Given the description of an element on the screen output the (x, y) to click on. 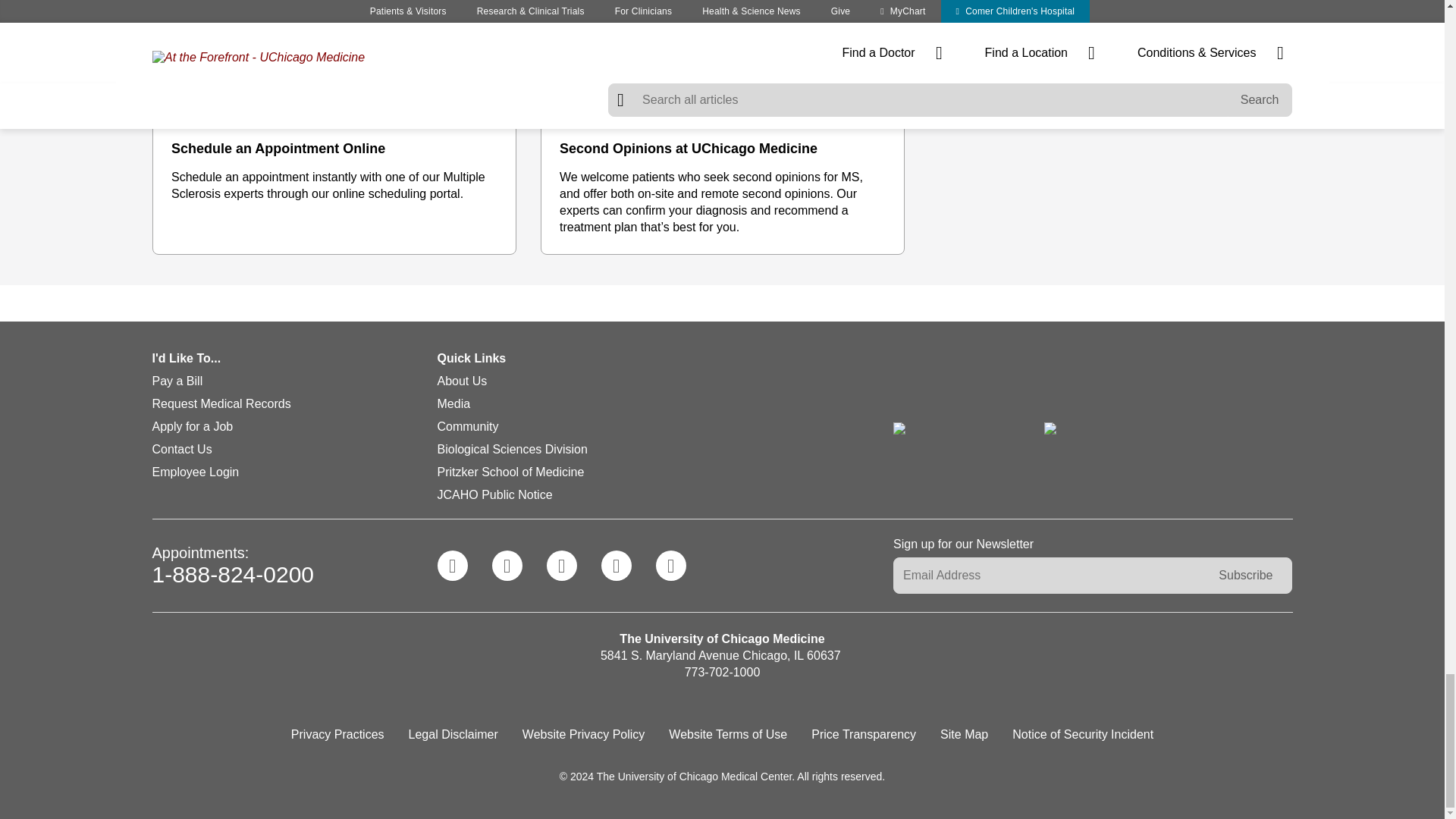
Schedule an Appointment Online (334, 148)
I'd Like To... (293, 361)
Pay a Bill (176, 381)
Apply for a Job (191, 426)
Second Opinions at UChicago Medicine (722, 148)
Request Medical Records (220, 404)
